Given the description of an element on the screen output the (x, y) to click on. 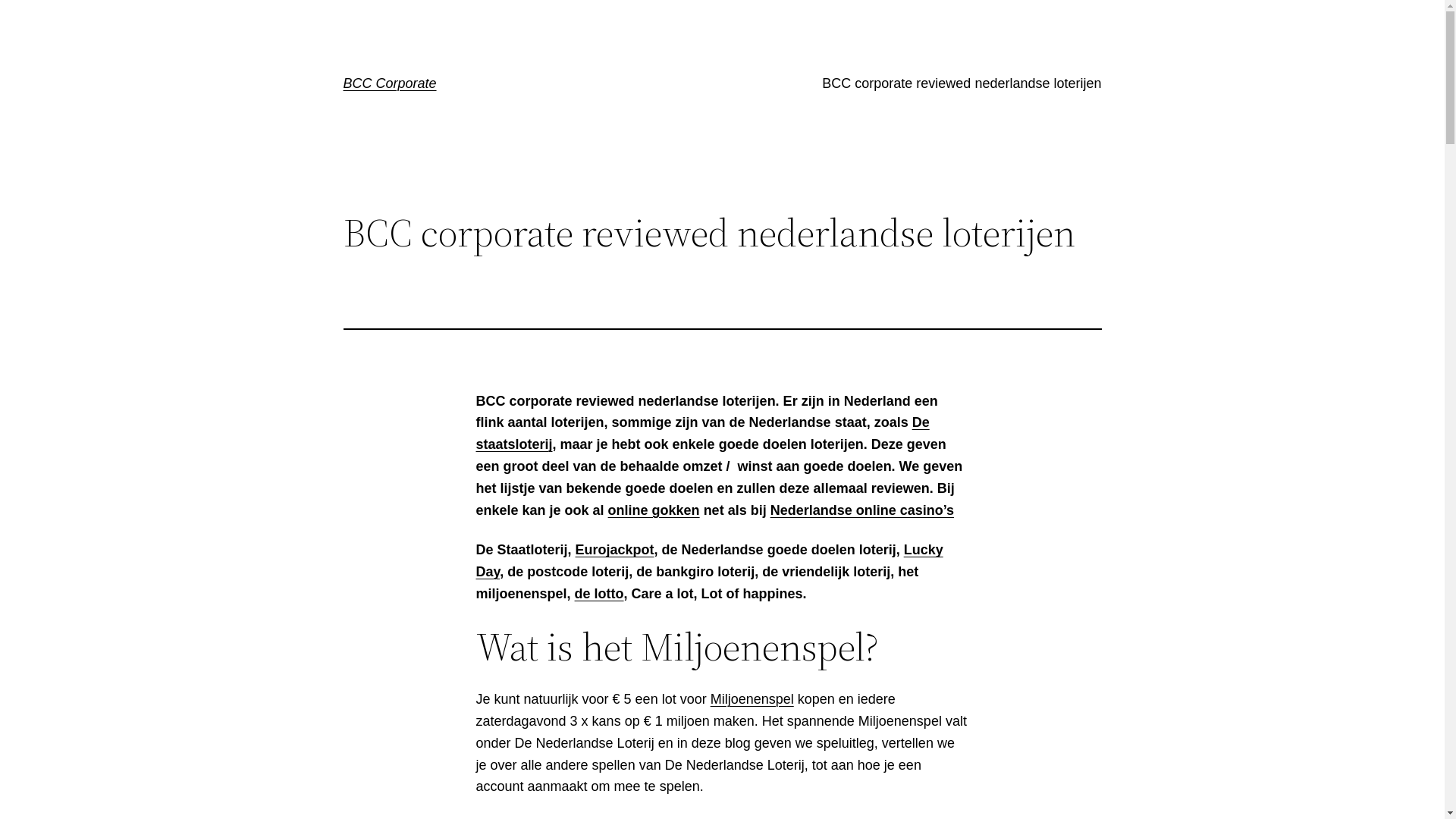
De staatsloterij Element type: text (702, 432)
Eurojackpot Element type: text (614, 549)
BCC corporate reviewed nederlandse loterijen Element type: text (961, 83)
de lotto Element type: text (599, 593)
online gokken Element type: text (653, 509)
Miljoenenspel Element type: text (751, 698)
BCC Corporate Element type: text (389, 83)
Lucky Day Element type: text (709, 560)
